Given the description of an element on the screen output the (x, y) to click on. 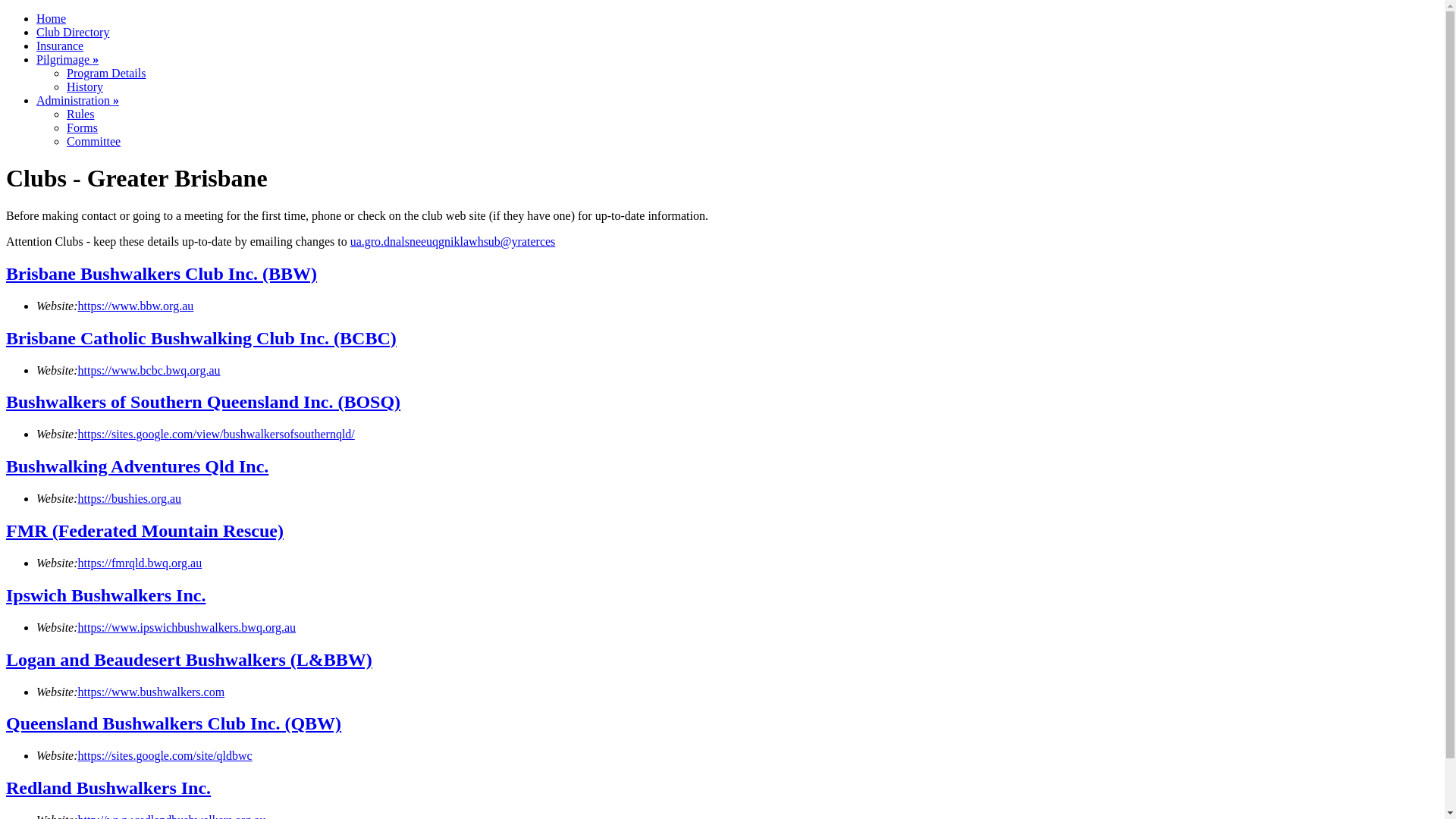
Program Details Element type: text (105, 72)
Redland Bushwalkers Inc. Element type: text (108, 787)
https://www.bbw.org.au Element type: text (136, 305)
Queensland Bushwalkers Club Inc. (QBW) Element type: text (173, 723)
https://www.ipswichbushwalkers.bwq.org.au Element type: text (187, 627)
Bushwalkers of Southern Queensland Inc. (BOSQ) Element type: text (203, 401)
History Element type: text (84, 86)
FMR (Federated Mountain Rescue) Element type: text (144, 530)
Committee Element type: text (93, 140)
Ipswich Bushwalkers Inc. Element type: text (105, 595)
https://fmrqld.bwq.org.au Element type: text (140, 562)
Brisbane Bushwalkers Club Inc. (BBW) Element type: text (161, 273)
Rules Element type: text (80, 113)
https://sites.google.com/view/bushwalkersofsouthernqld/ Element type: text (216, 433)
Logan and Beaudesert Bushwalkers (L&BBW) Element type: text (189, 659)
Brisbane Catholic Bushwalking Club Inc. (BCBC) Element type: text (201, 338)
Bushwalking Adventures Qld Inc. Element type: text (137, 466)
https://sites.google.com/site/qldbwc Element type: text (165, 755)
Club Directory Element type: text (72, 31)
https://www.bcbc.bwq.org.au Element type: text (149, 370)
https://bushies.org.au Element type: text (130, 498)
ua.gro.dnalsneeuqgniklawhsub@yraterces Element type: text (452, 241)
https://www.bushwalkers.com Element type: text (151, 691)
Forms Element type: text (81, 127)
Home Element type: text (50, 18)
Insurance Element type: text (59, 45)
